Given the description of an element on the screen output the (x, y) to click on. 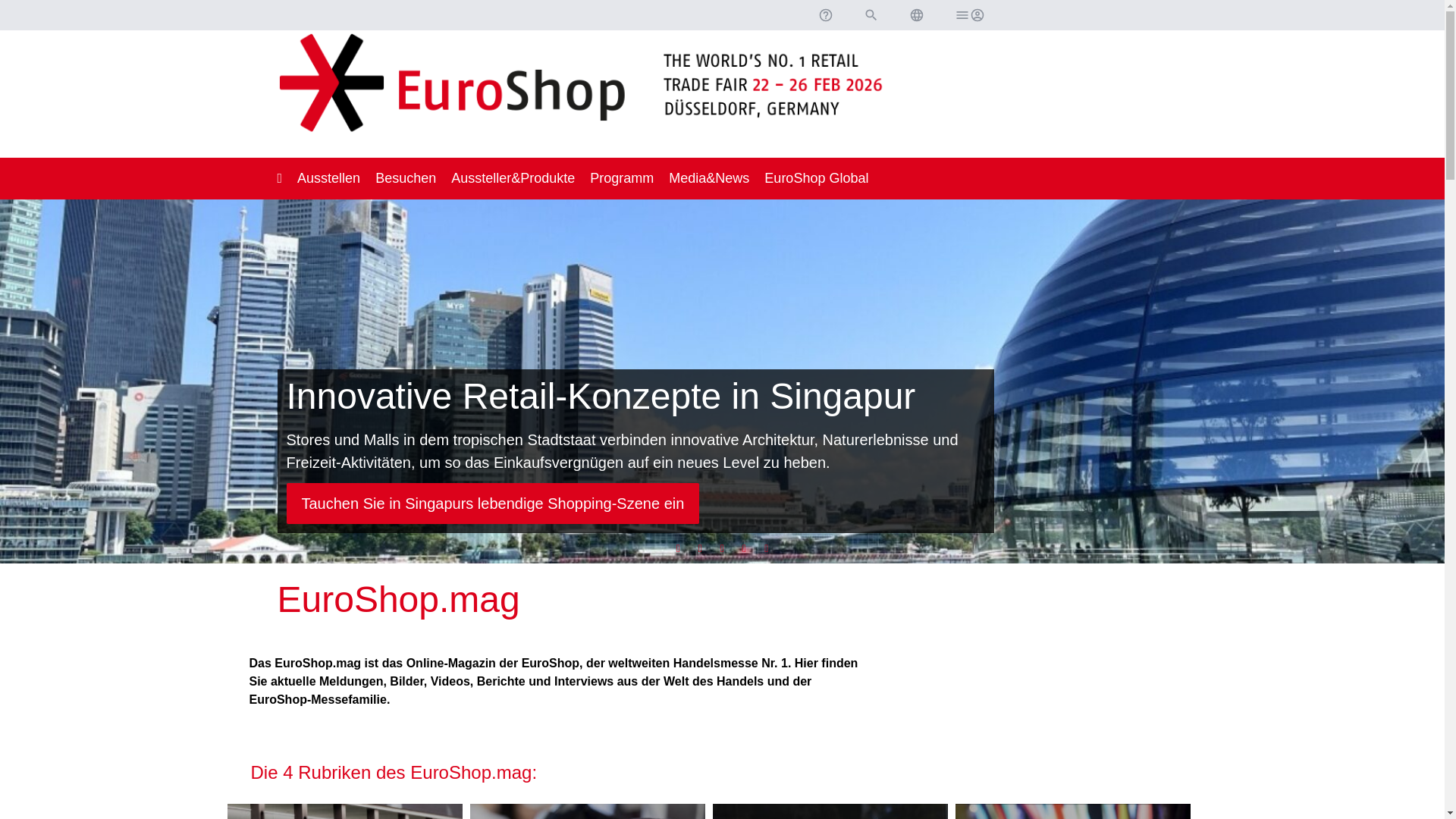
Hilfe (824, 14)
Login (968, 14)
DEUTSCH (915, 14)
Suche (870, 14)
